Given the description of an element on the screen output the (x, y) to click on. 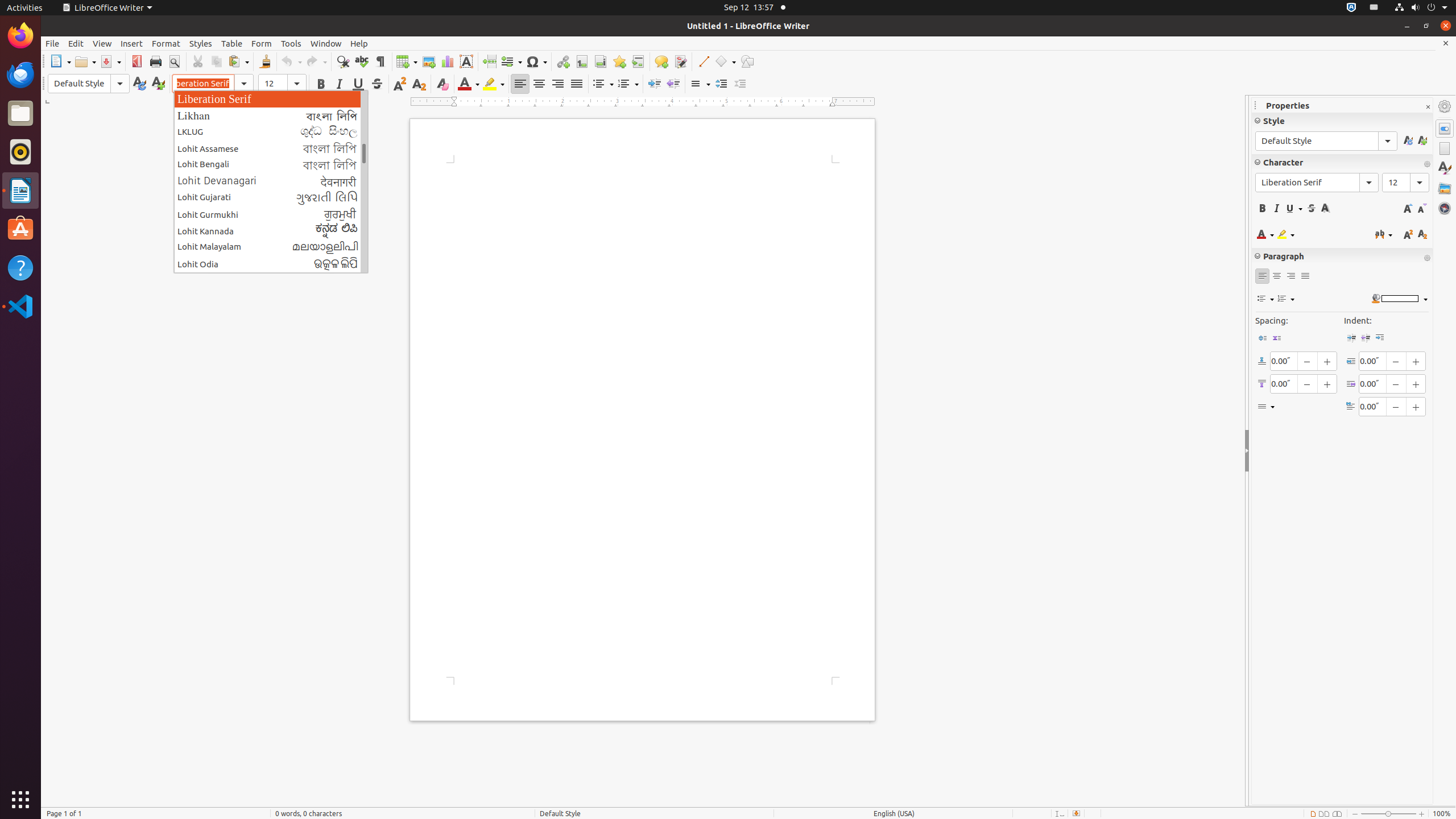
Form Element type: menu (261, 43)
Save Element type: push-button (109, 61)
Update Element type: push-button (138, 83)
Bookmark Element type: push-button (618, 61)
Left Element type: toggle-button (519, 83)
